Given the description of an element on the screen output the (x, y) to click on. 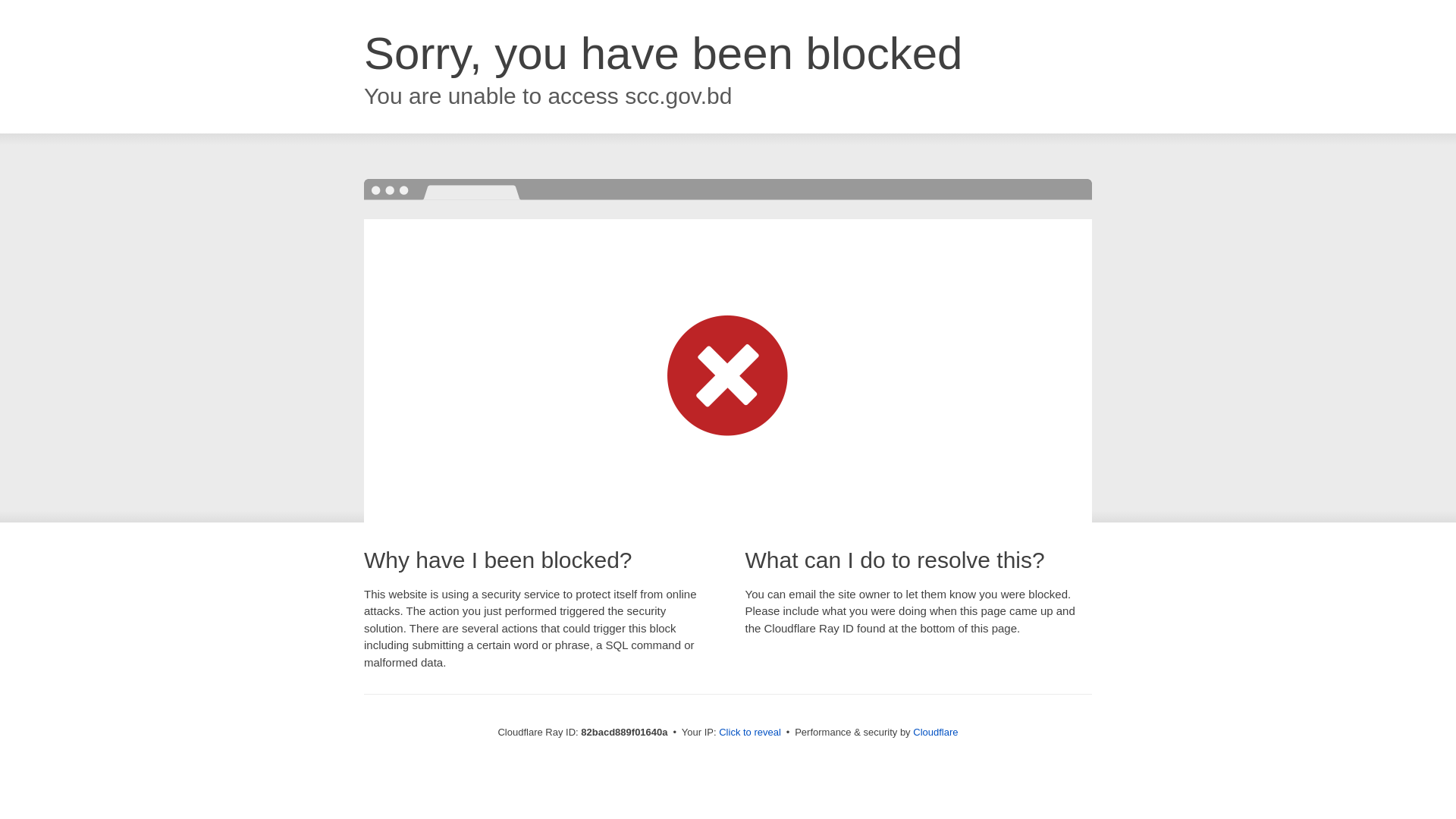
Click to reveal Element type: text (749, 732)
Cloudflare Element type: text (935, 731)
